Given the description of an element on the screen output the (x, y) to click on. 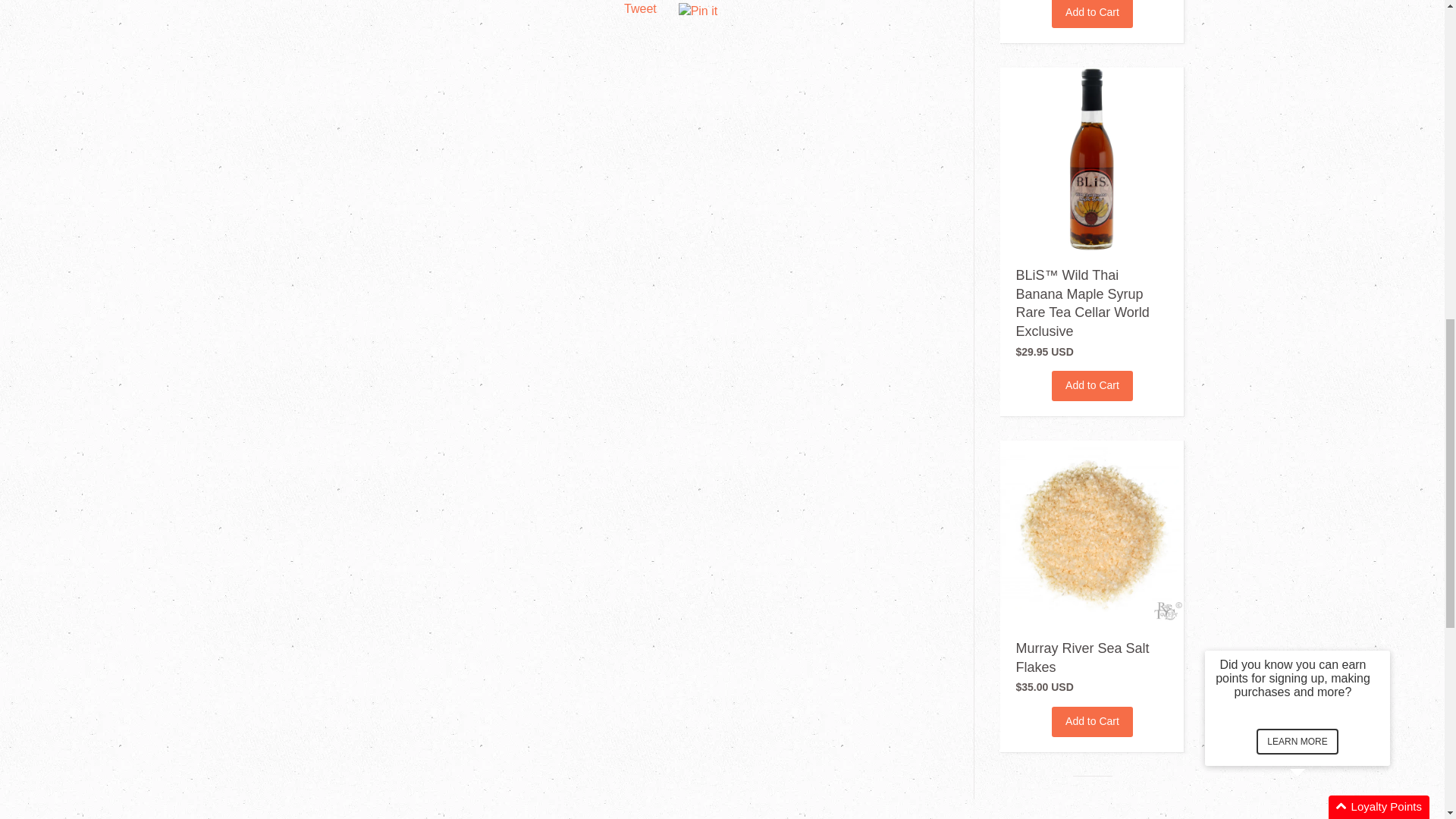
Murray River Sea Salt Flakes (1081, 657)
